Given the description of an element on the screen output the (x, y) to click on. 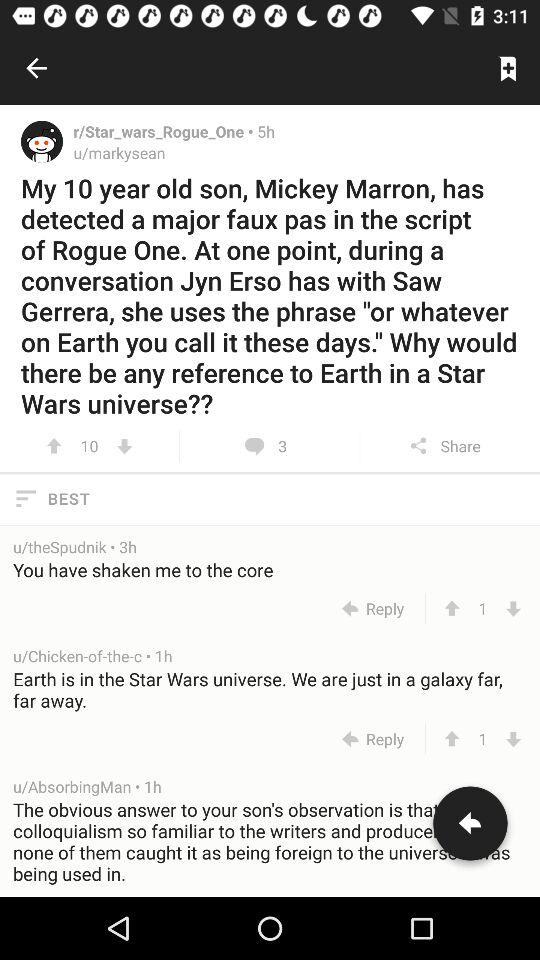
turn on the icon below the u chicken of item (271, 689)
